Given the description of an element on the screen output the (x, y) to click on. 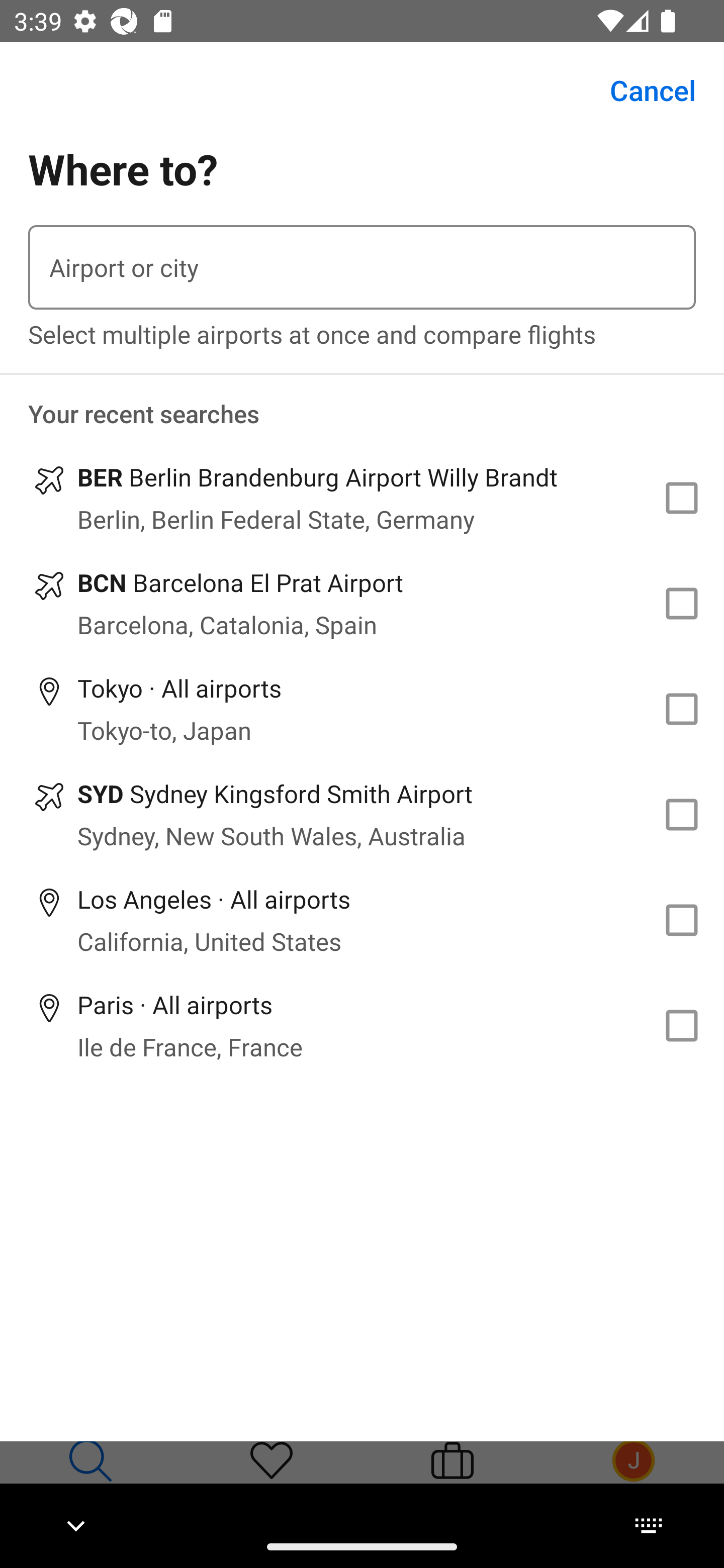
Cancel (641, 90)
Airport or city (361, 266)
Tokyo · All airports Tokyo-to, Japan (362, 709)
Paris · All airports Ile de France, France (362, 1025)
